Given the description of an element on the screen output the (x, y) to click on. 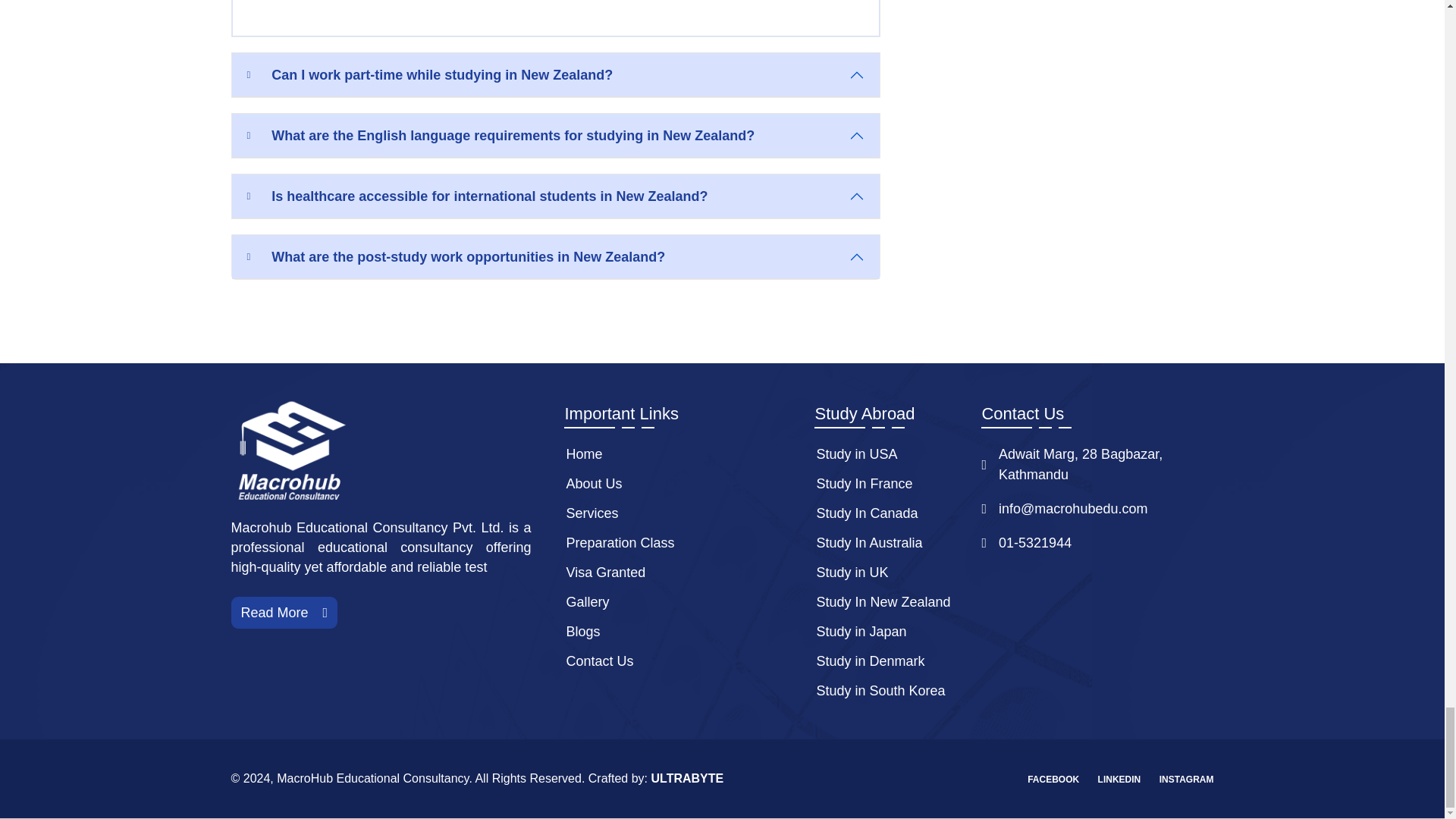
Can I work part-time while studying in New Zealand? (555, 75)
What are the post-study work opportunities in New Zealand? (555, 257)
